Given the description of an element on the screen output the (x, y) to click on. 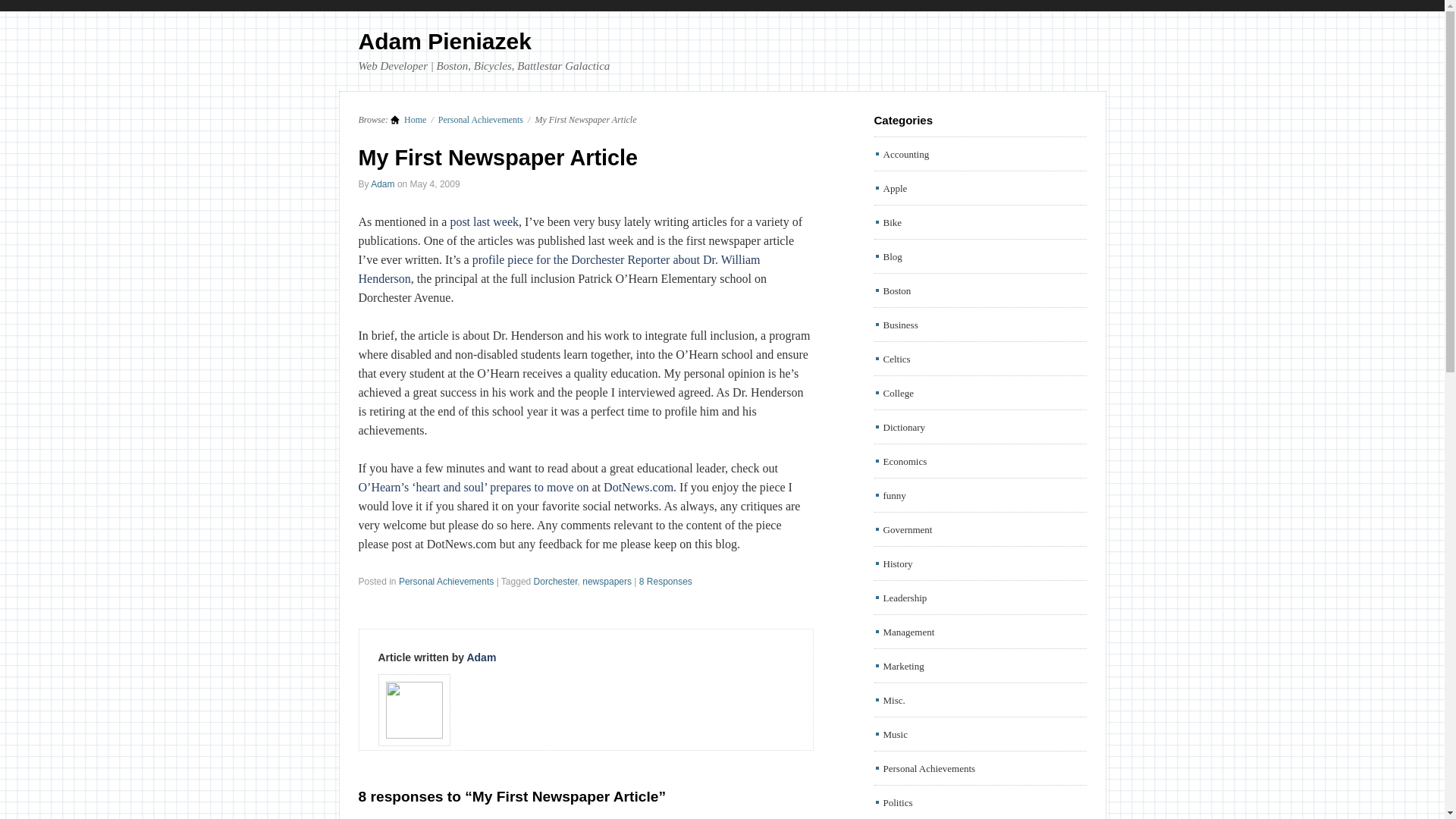
My First Newspaper Article (497, 157)
Dorchester (556, 581)
8 Responses (666, 581)
Adam (382, 184)
newspapers (606, 581)
Adam Pieniazek (444, 41)
Adam (382, 184)
post last week (483, 221)
Adam Pieniazek (408, 119)
Monday, May 4th, 2009, 1:00 am (435, 184)
Adam Pieniazek (444, 41)
DotNews.com (638, 486)
Comment on My First Newspaper Article (666, 581)
Adam (480, 657)
